Given the description of an element on the screen output the (x, y) to click on. 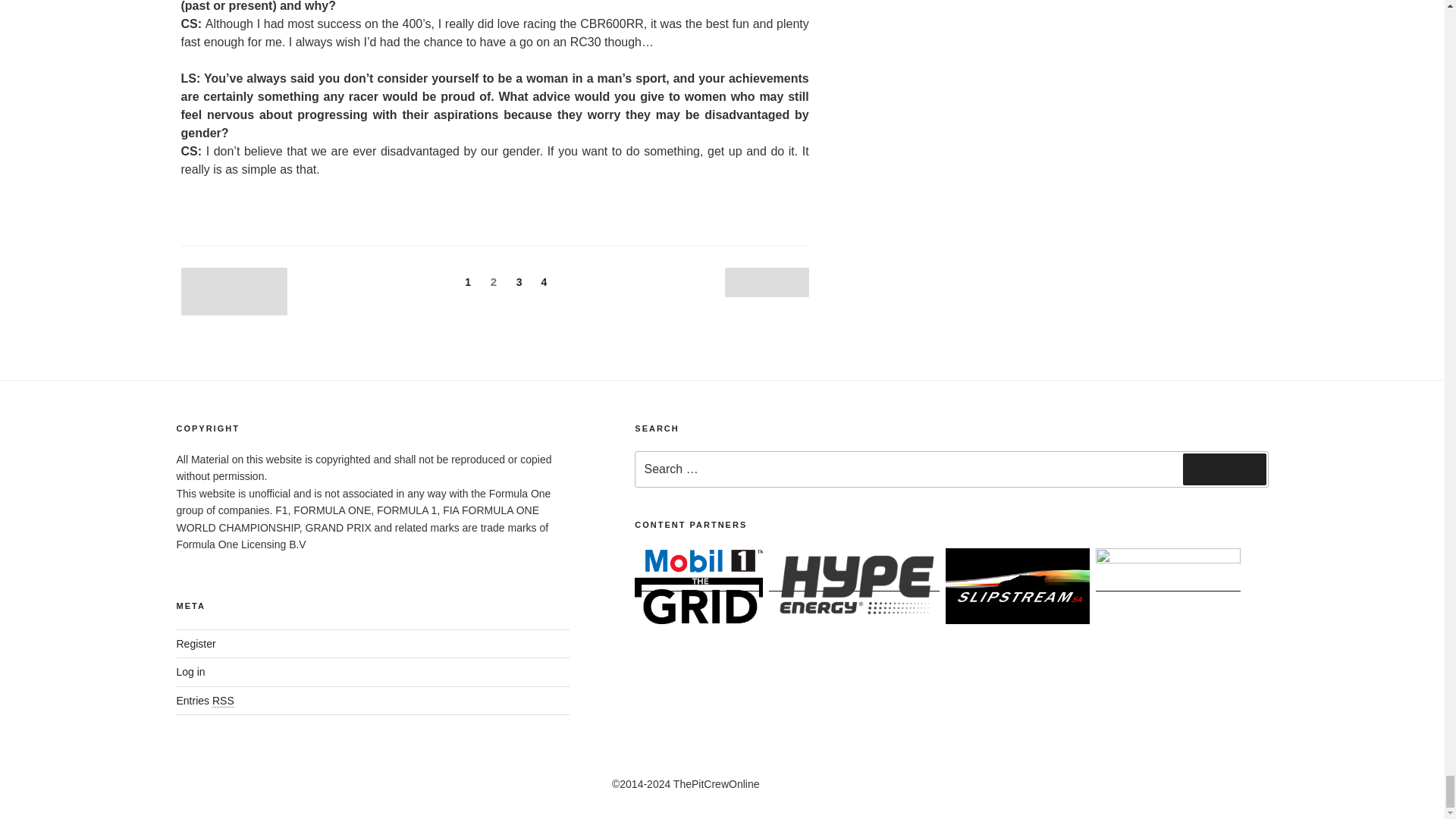
Really Simple Syndication (223, 700)
